Given the description of an element on the screen output the (x, y) to click on. 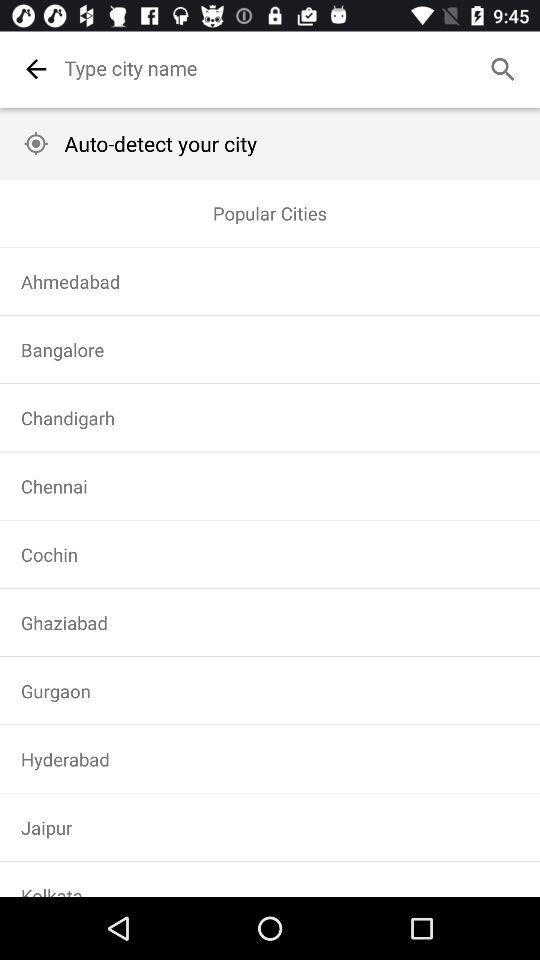
the image is used to go to my location (36, 143)
